Given the description of an element on the screen output the (x, y) to click on. 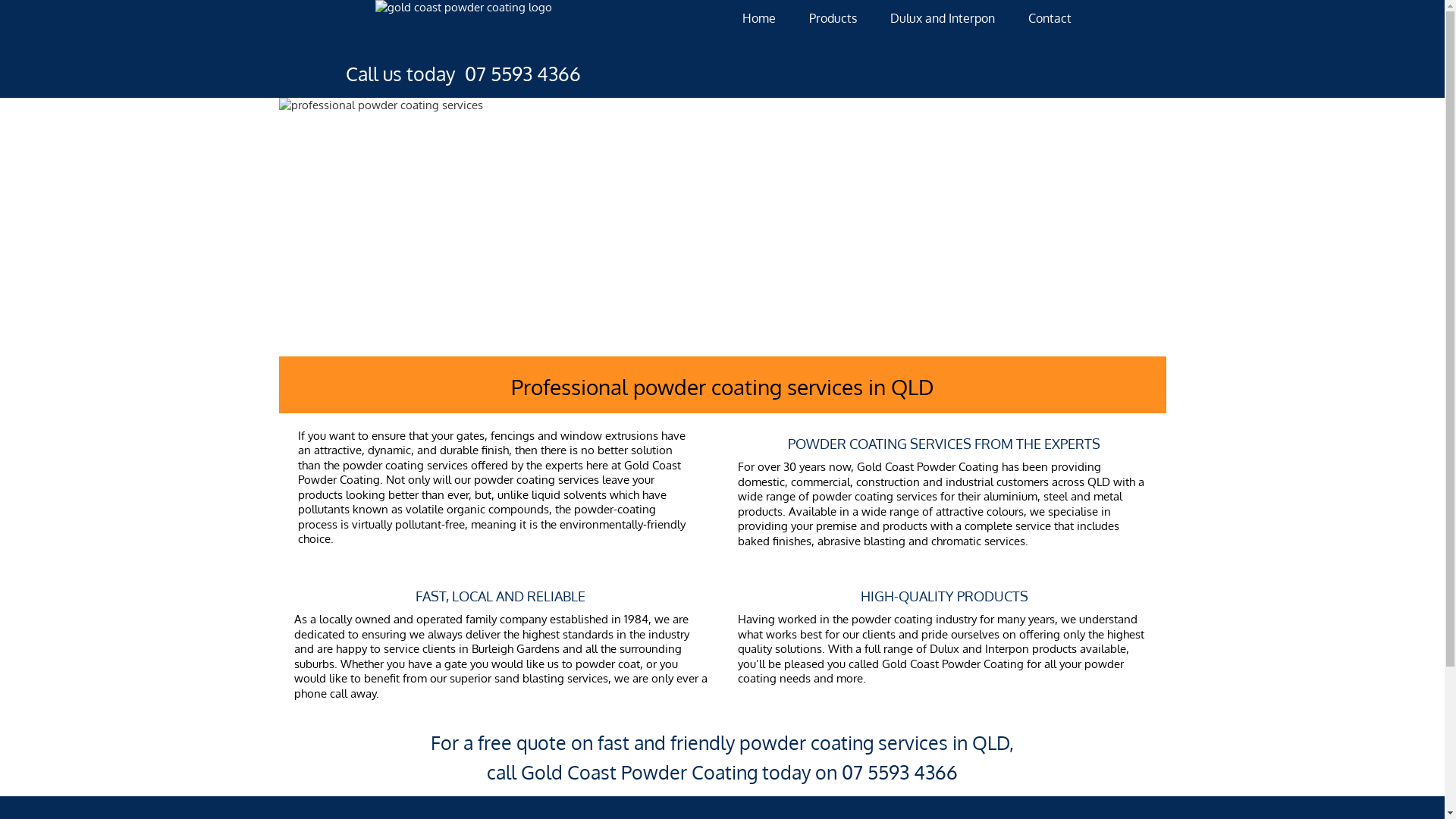
Products Element type: text (833, 18)
gold coast powder coating logo Element type: hover (463, 23)
07 5593 4366 Element type: text (899, 771)
Dulux and Interpon Element type: text (942, 18)
Home Element type: text (758, 18)
07 5593 4366 Element type: text (522, 73)
Contact Element type: text (1049, 18)
professional powder coating services Element type: hover (722, 226)
